Given the description of an element on the screen output the (x, y) to click on. 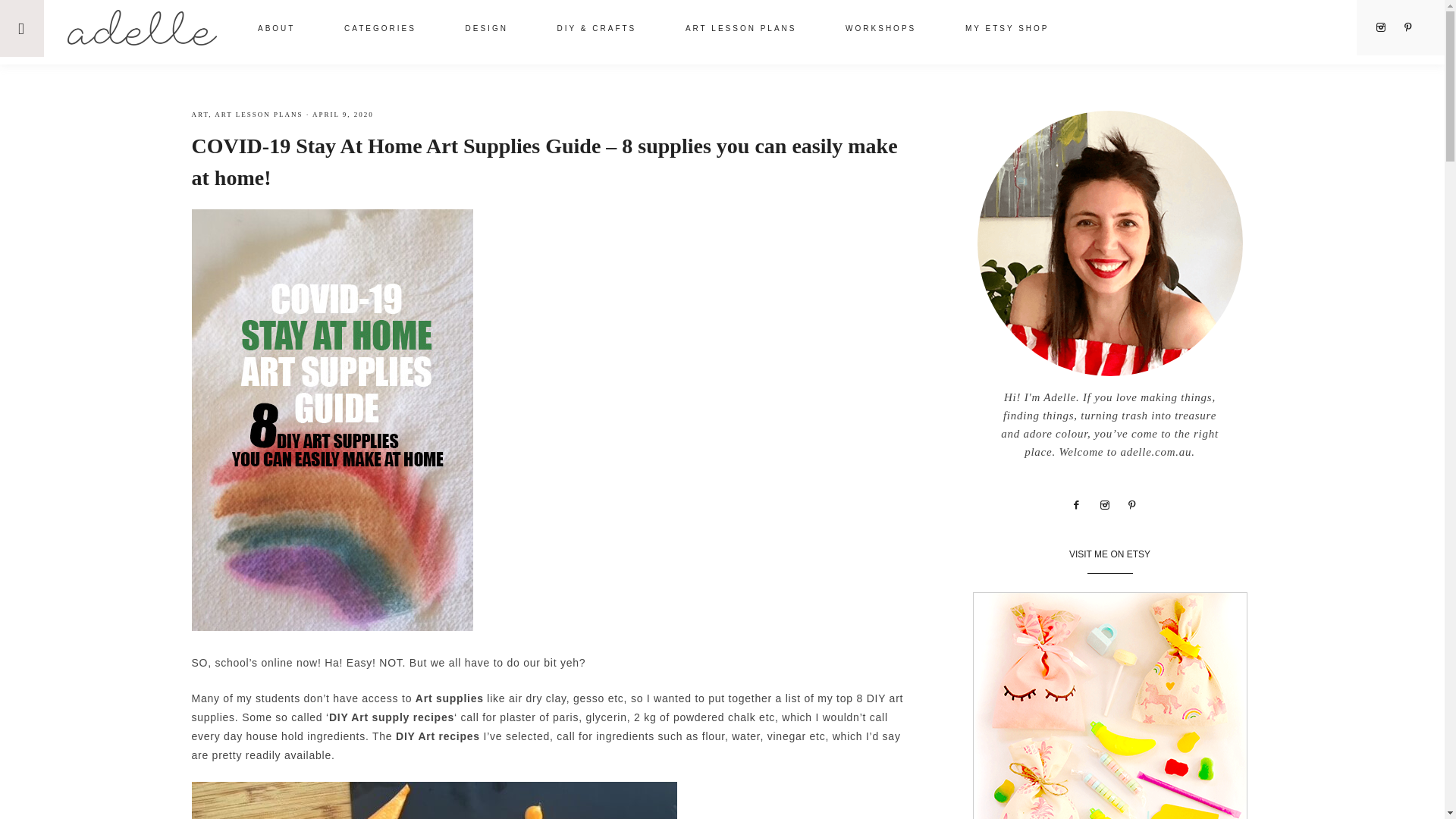
ART LESSON PLANS (740, 29)
ART (199, 113)
ADELLE (141, 27)
Facebook (1081, 503)
WORKSHOPS (880, 29)
ABOUT (275, 29)
ART LESSON PLANS (258, 113)
CATEGORIES (380, 29)
Pinterest (1137, 503)
DESIGN (486, 29)
Pinterest (1414, 27)
MY ETSY SHOP (1006, 29)
Instagram (1386, 27)
Instagram (1109, 503)
